Given the description of an element on the screen output the (x, y) to click on. 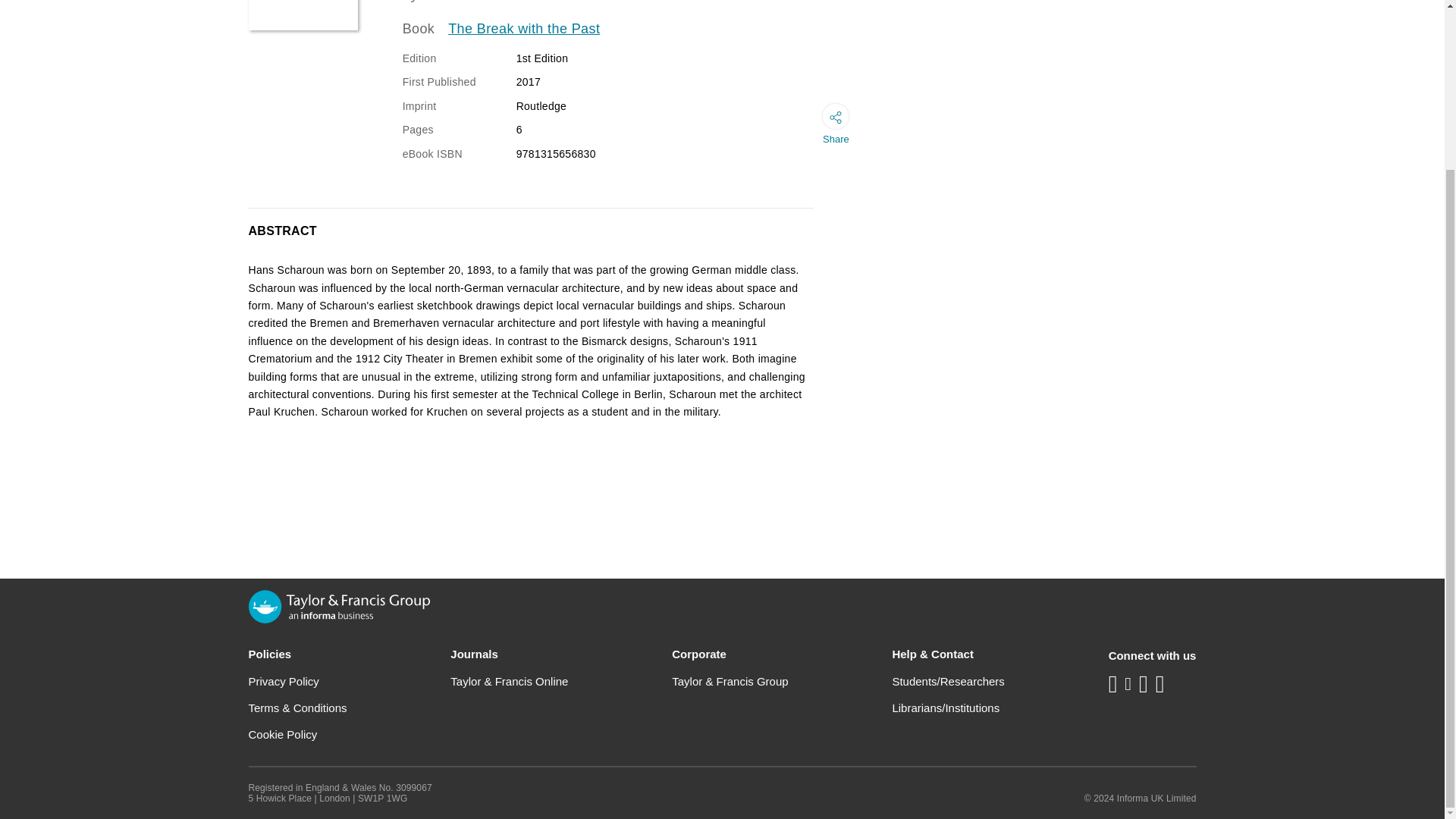
Deborah Ascher Barnstone (508, 1)
Hans Scharoun (303, 15)
Cookie Policy (282, 734)
Privacy Policy (283, 681)
The Break with the Past (523, 29)
